Given the description of an element on the screen output the (x, y) to click on. 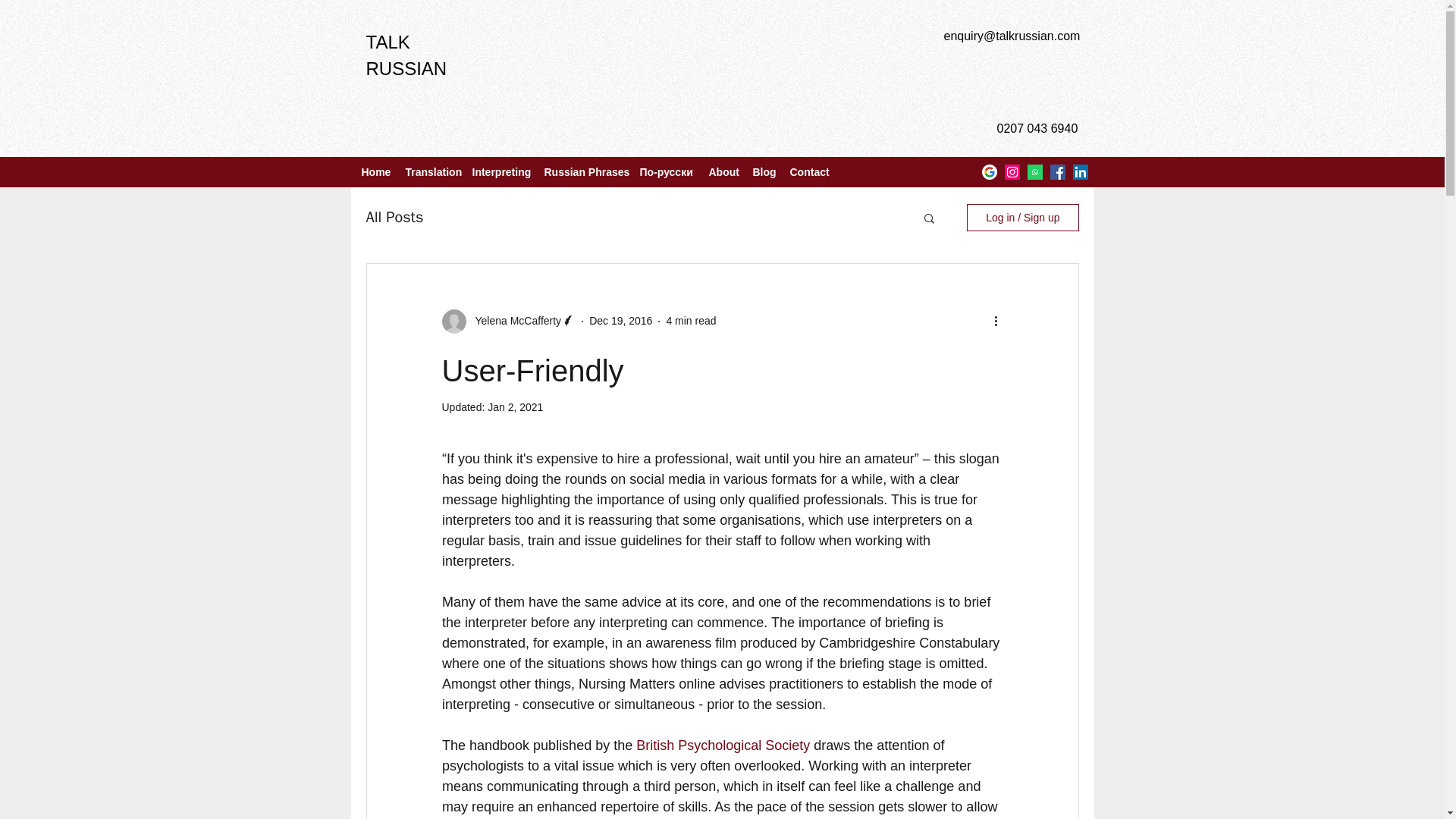
Yelena McCafferty (512, 320)
0207 043 6940 (1036, 128)
TALK RUSSIAN (405, 54)
Interpreting (499, 171)
British Psychological Society (722, 744)
Translation (430, 171)
About (722, 171)
Home (375, 171)
4 min read (690, 320)
Contact (809, 171)
Dec 19, 2016 (620, 320)
Russian Phrases (584, 171)
Blog (762, 171)
All Posts (394, 217)
Jan 2, 2021 (515, 407)
